Given the description of an element on the screen output the (x, y) to click on. 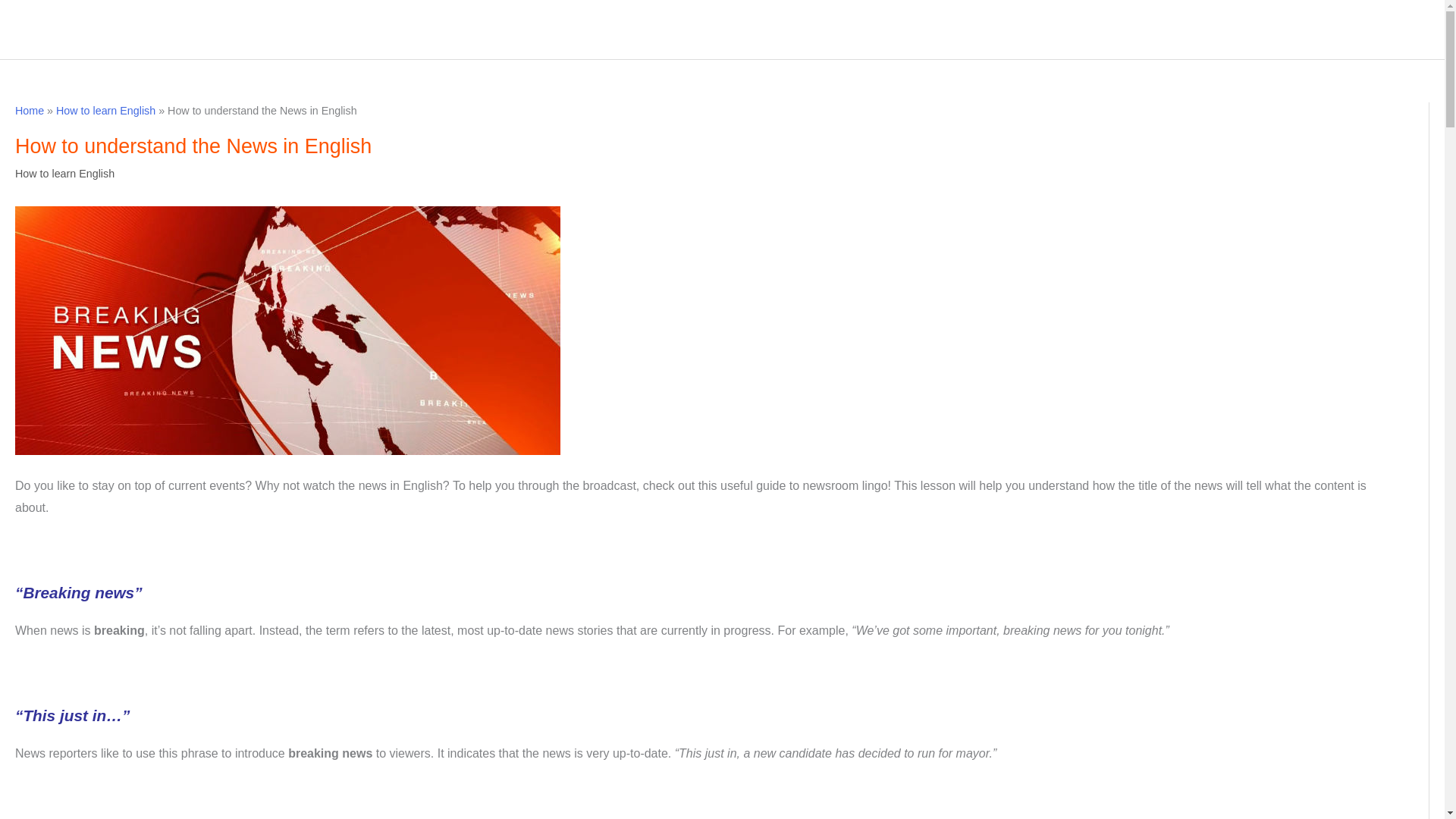
learn ENGLISH (87, 19)
Elementary Listening (1340, 29)
Speaking (1083, 29)
Grammar (1251, 29)
How to (1147, 29)
